Given the description of an element on the screen output the (x, y) to click on. 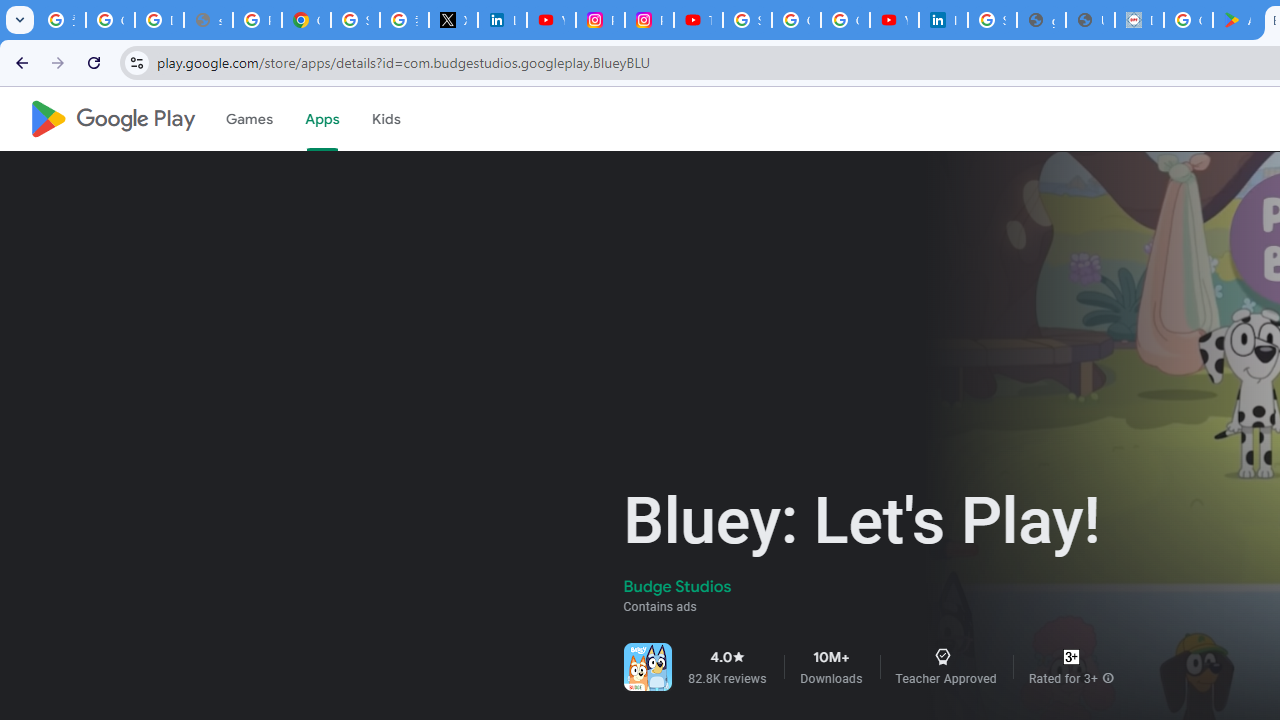
LinkedIn Privacy Policy (502, 20)
Budge Studios (677, 586)
Content rating (1071, 656)
X (452, 20)
Android Apps on Google Play (1237, 20)
YouTube Content Monetization Policies - How YouTube Works (551, 20)
google_privacy_policy_en.pdf (1041, 20)
Sign in - Google Accounts (992, 20)
Sign in - Google Accounts (355, 20)
Data Privacy Framework (1138, 20)
More info about this content rating (1108, 678)
